Given the description of an element on the screen output the (x, y) to click on. 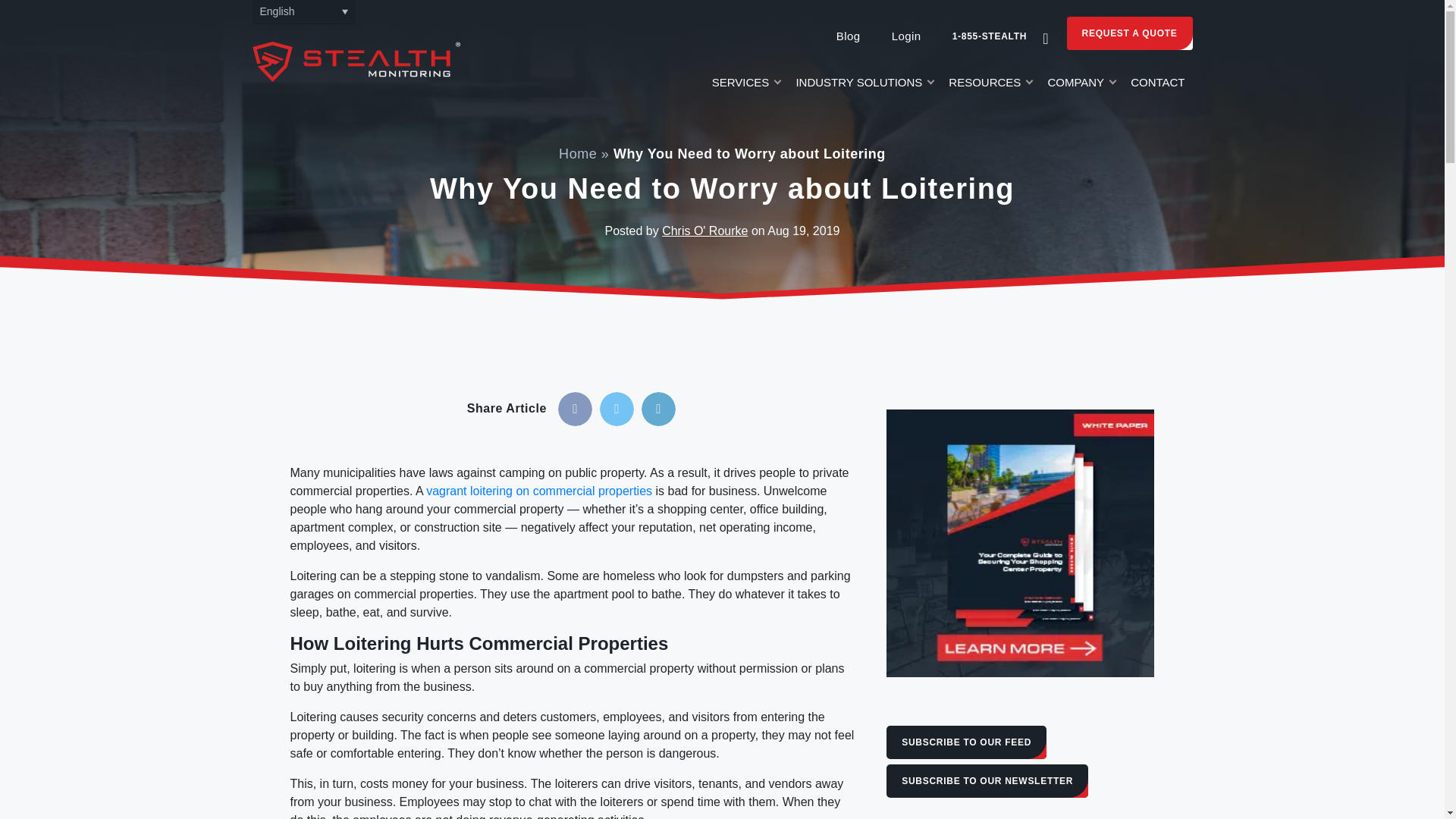
SERVICES (746, 87)
logo-tr (355, 60)
INDUSTRY SOLUTIONS (863, 87)
Login (906, 36)
1-855-STEALTH (989, 36)
REQUEST A QUOTE (1129, 32)
Blog (848, 36)
